Given the description of an element on the screen output the (x, y) to click on. 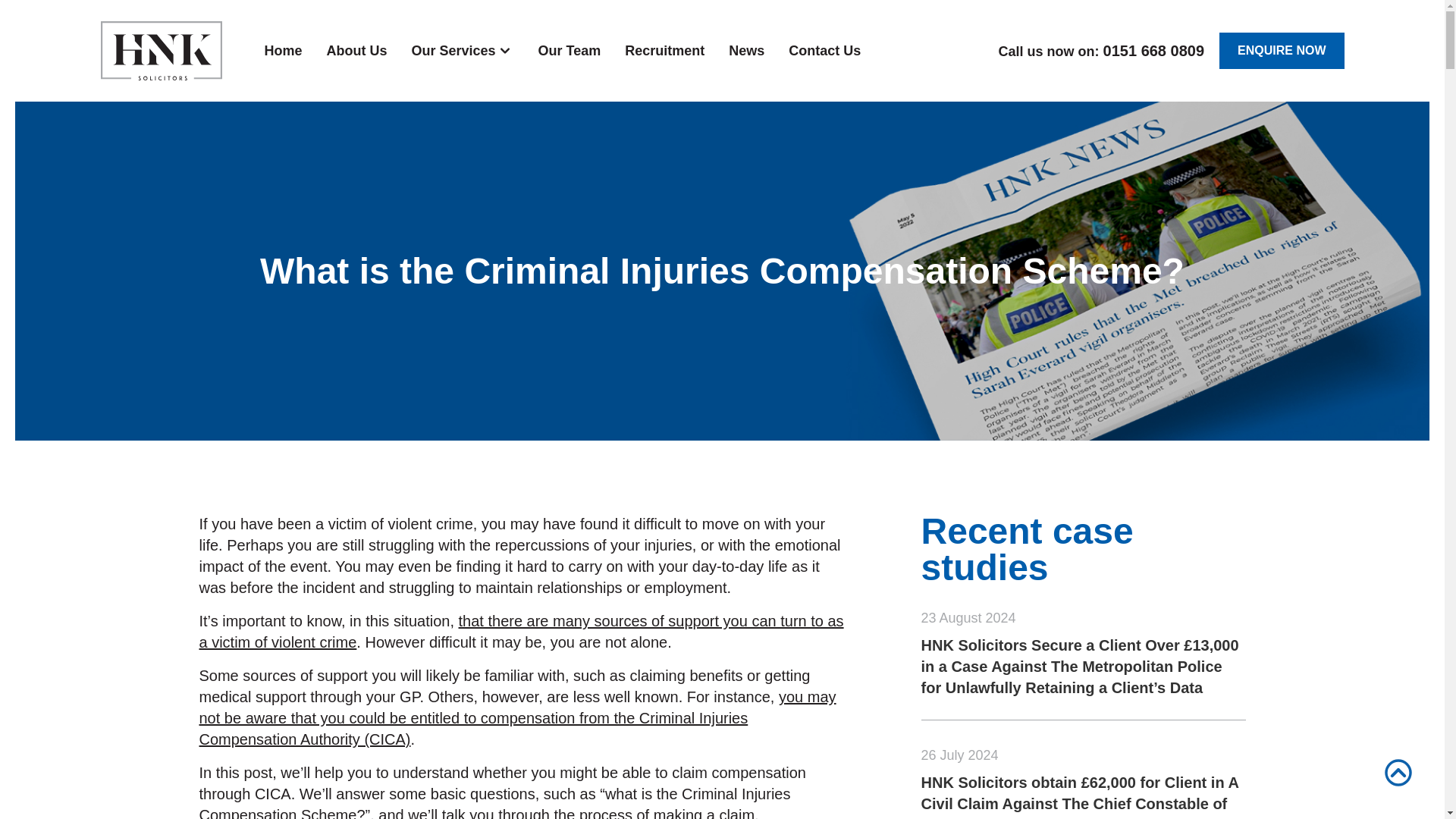
Home (282, 50)
Our Services (454, 50)
Our Services (461, 50)
About Us (356, 50)
